Given the description of an element on the screen output the (x, y) to click on. 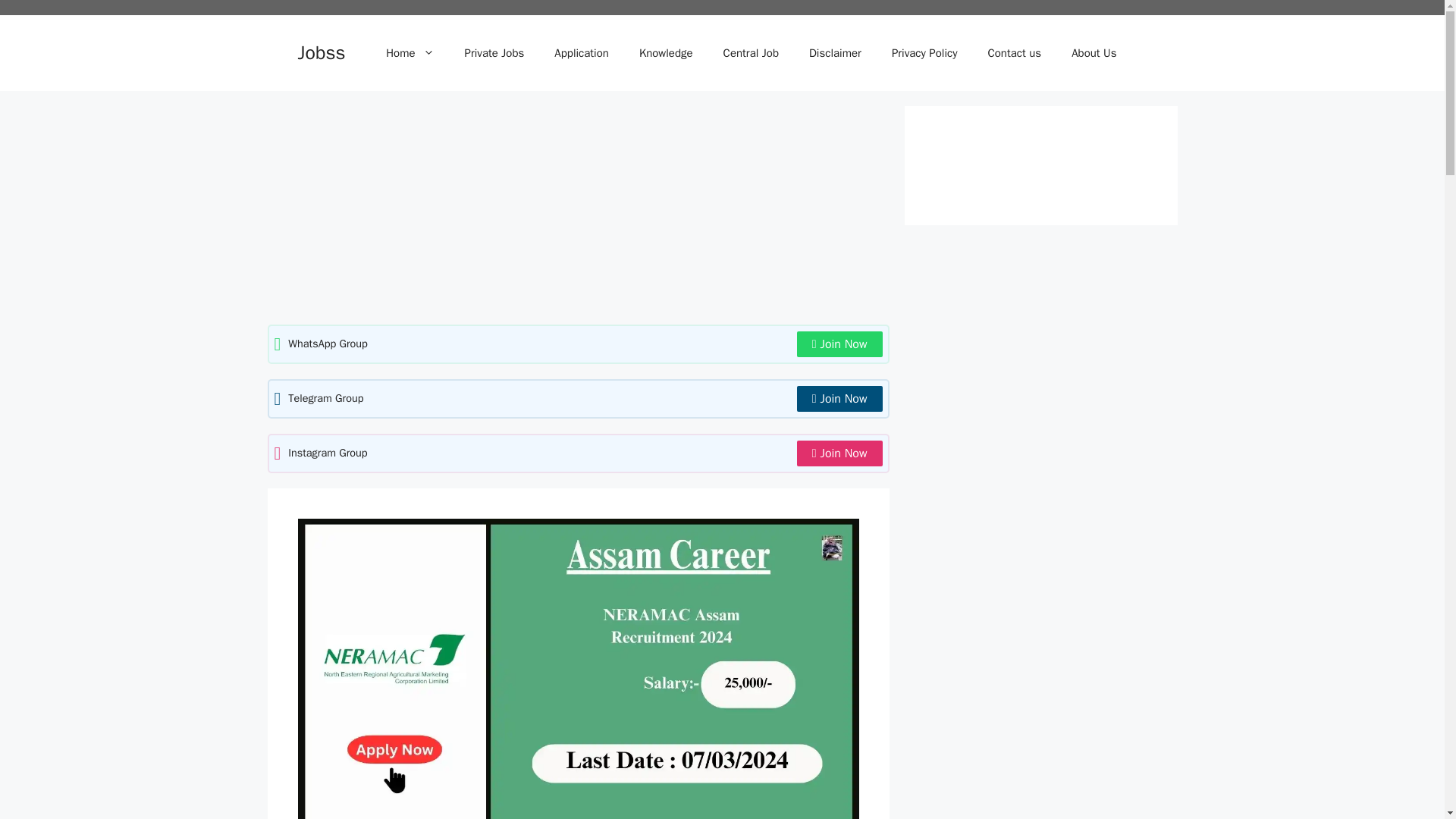
Join Now (839, 453)
Central Job (750, 53)
Join Now (839, 344)
Join Now (839, 398)
Private Jobs (494, 53)
Advertisement (577, 212)
Jobss (321, 52)
Disclaimer (834, 53)
Contact us (1014, 53)
Privacy Policy (924, 53)
Knowledge (665, 53)
Application (581, 53)
Home (409, 53)
About Us (1094, 53)
